Given the description of an element on the screen output the (x, y) to click on. 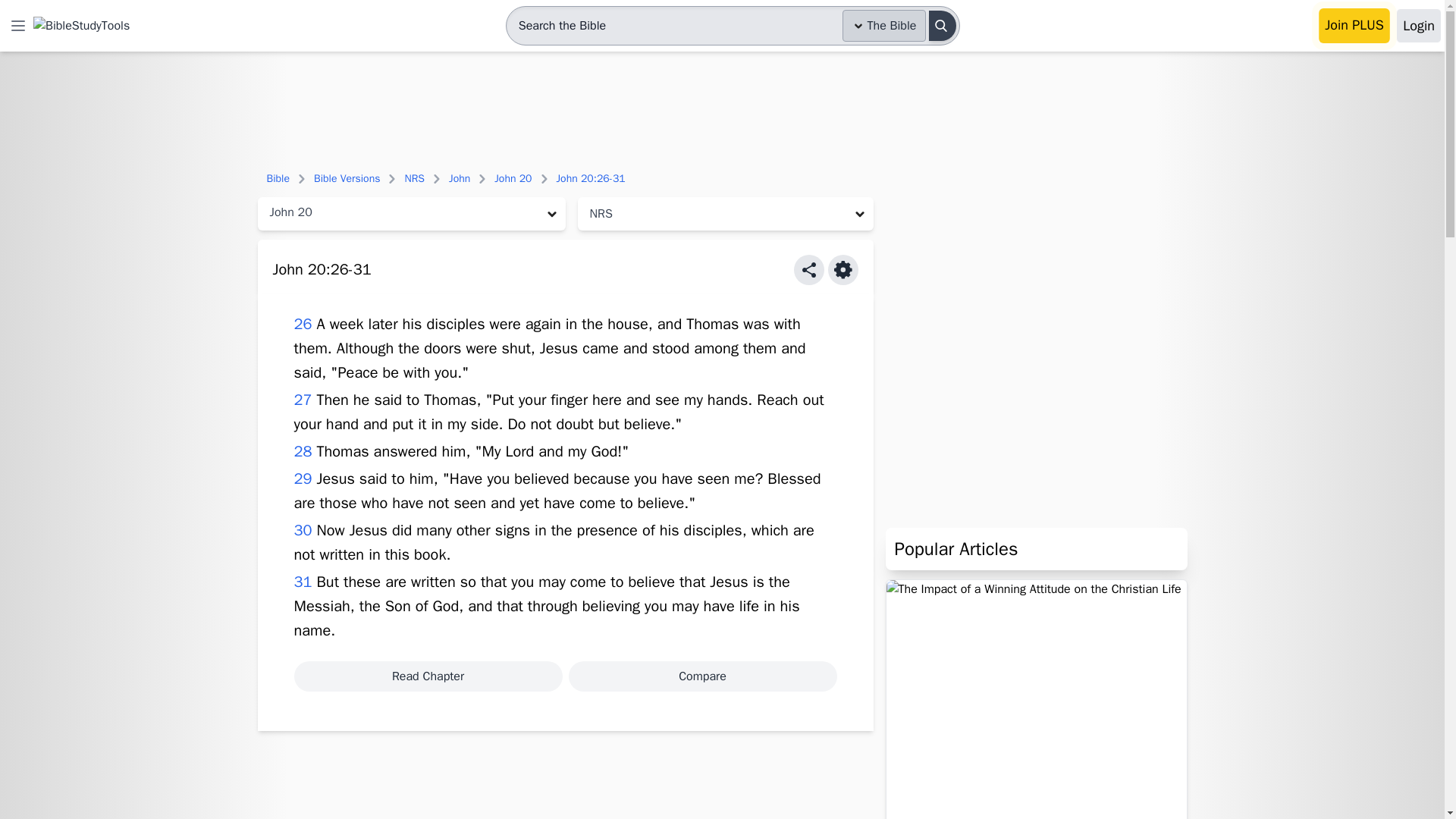
Login (1418, 25)
Scripture Settings (843, 269)
The Bible (884, 25)
Join PLUS (1354, 25)
